Given the description of an element on the screen output the (x, y) to click on. 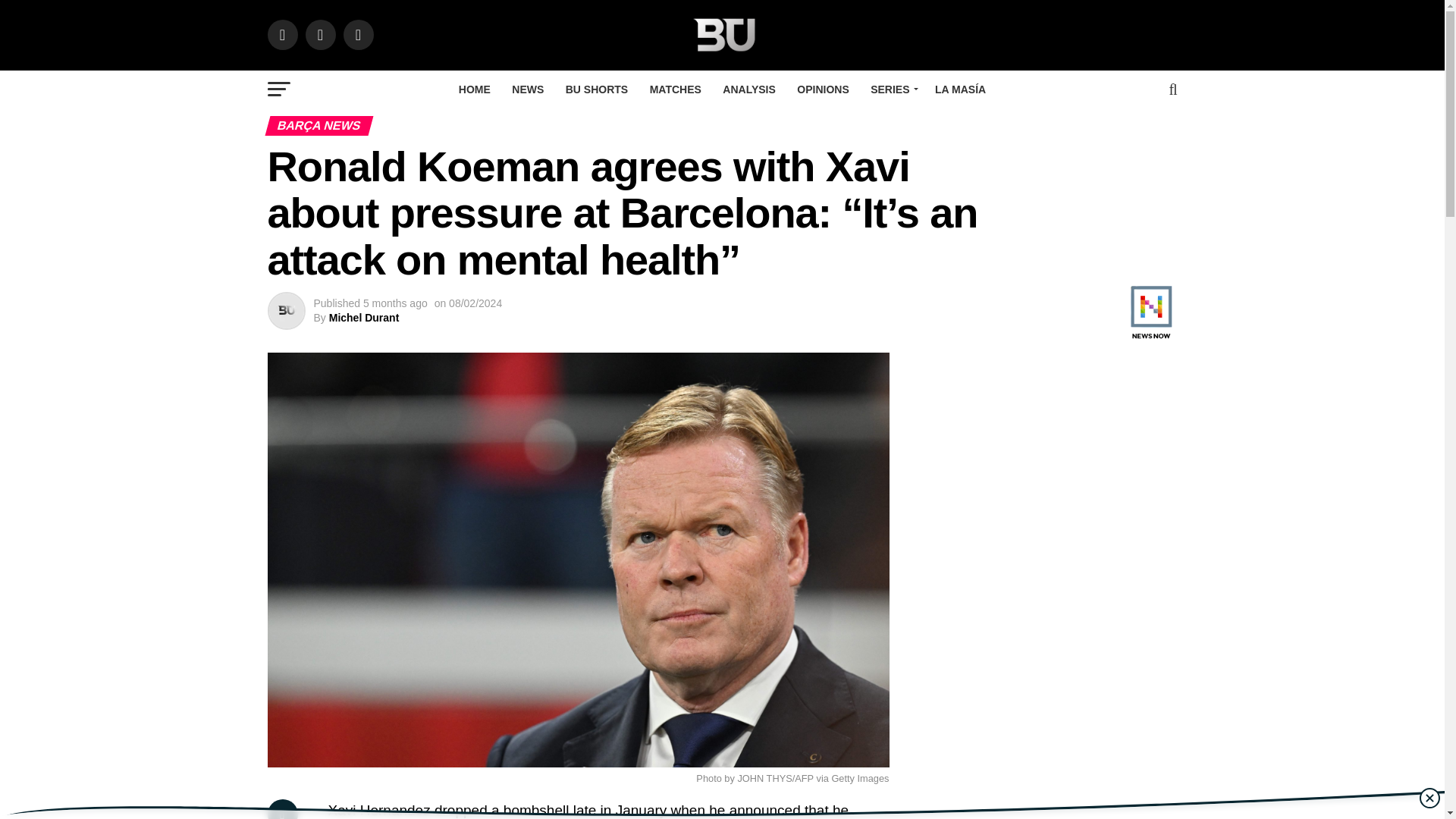
HOME (474, 89)
NEWS (527, 89)
Posts by Michel Durant (363, 317)
BU SHORTS (596, 89)
